Given the description of an element on the screen output the (x, y) to click on. 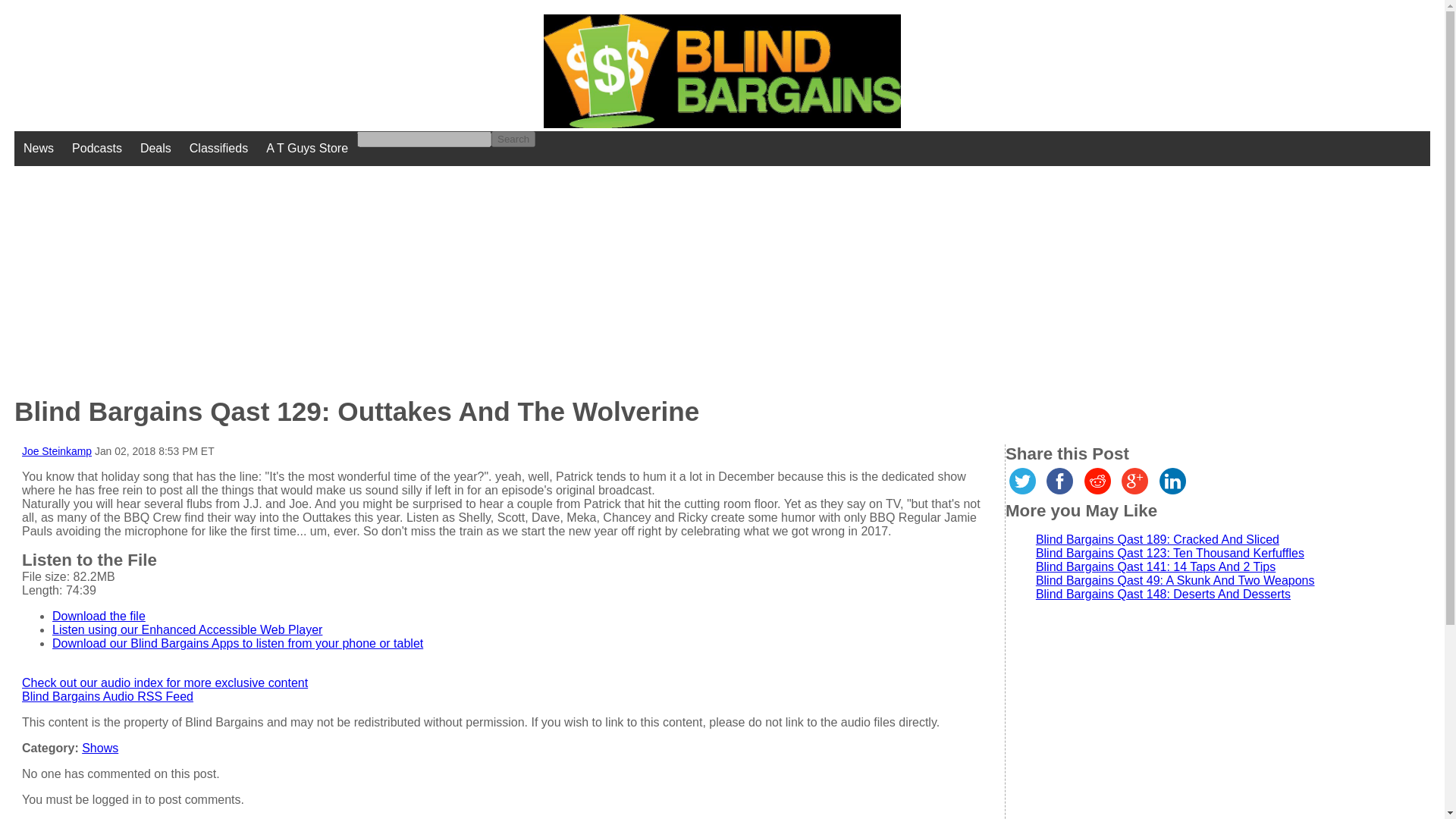
Deals (155, 148)
Check out our audio index for more exclusive content (164, 682)
Joe Steinkamp (56, 451)
A T Guys Store (306, 148)
Blind Bargains Qast 49: A Skunk And Two Weapons (1174, 580)
Blind Bargains Qast 148: Deserts And Desserts (1162, 594)
News (38, 148)
Download the file (98, 615)
Classifieds (218, 148)
Search (513, 139)
Blind Bargains Qast 141: 14 Taps And 2 Tips (1155, 566)
Blind Bargains Audio RSS Feed (107, 696)
Blind Bargains Qast 123: Ten Thousand Kerfuffles (1169, 553)
